Given the description of an element on the screen output the (x, y) to click on. 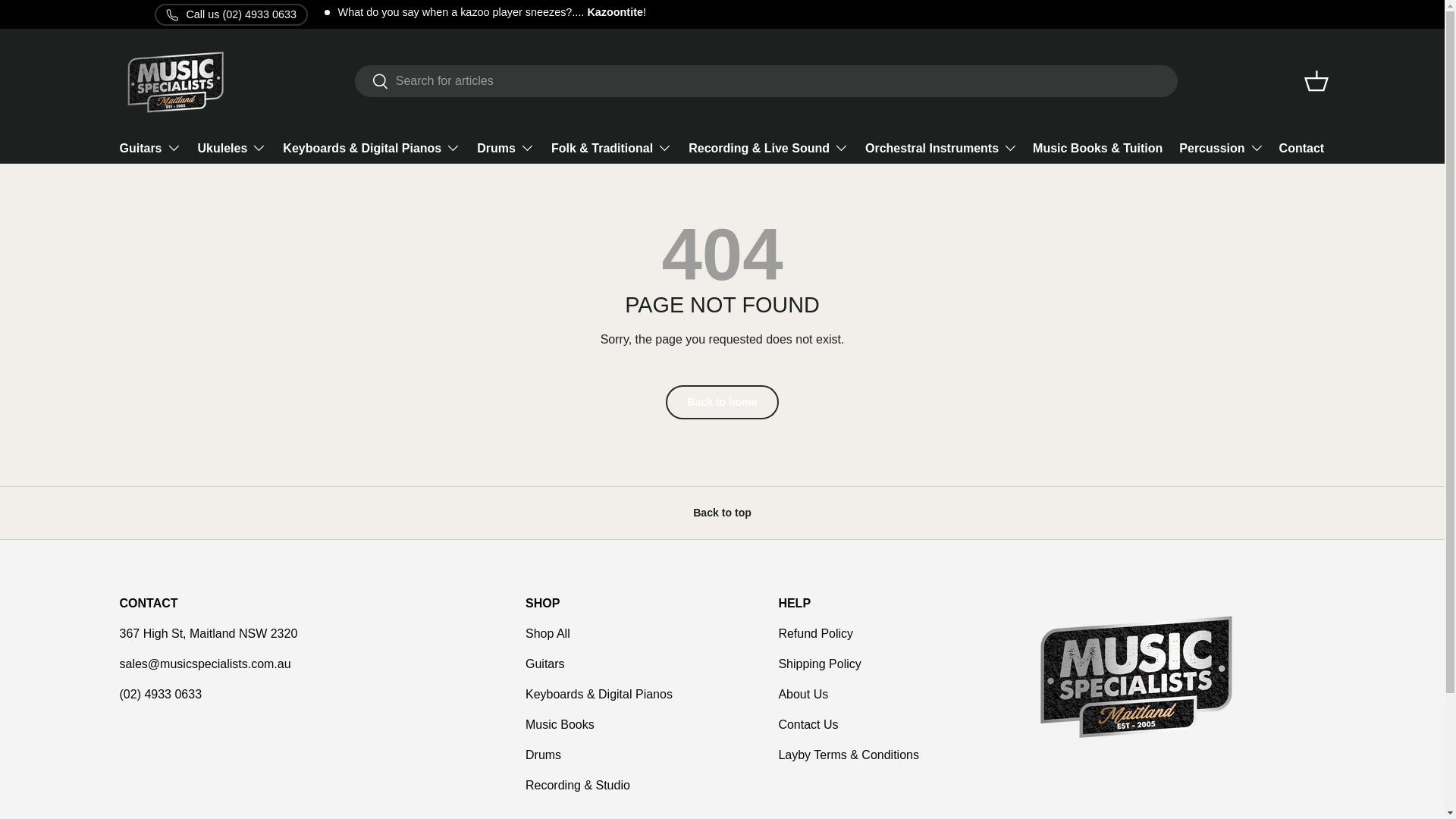
Skip to content (69, 21)
Search (371, 81)
Basket (1316, 80)
Guitars (149, 147)
